Given the description of an element on the screen output the (x, y) to click on. 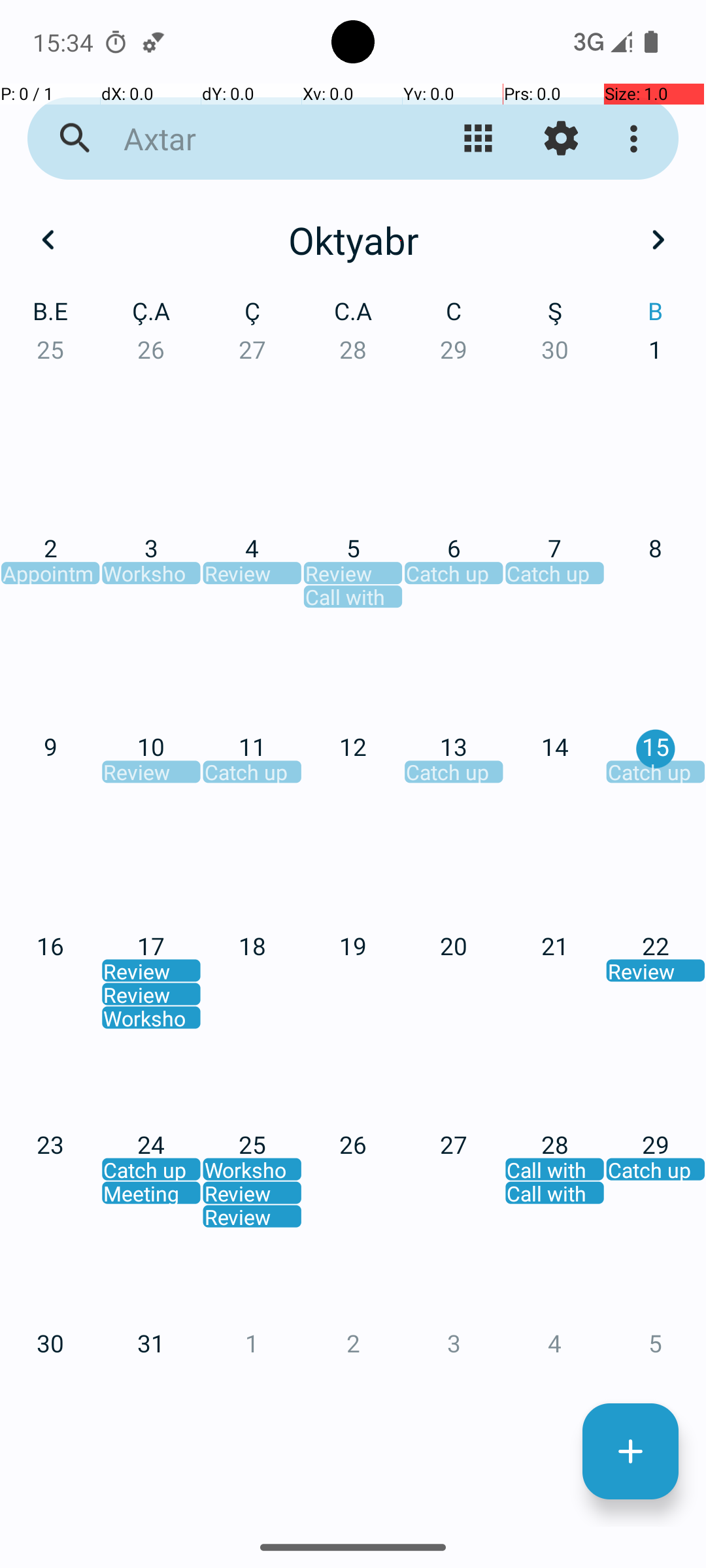
Axtar Element type: android.widget.EditText (252, 138)
Görünüşü dəyiş Element type: android.widget.Button (477, 138)
Parametrlər Element type: android.widget.Button (560, 138)
Digər seçimlər Element type: android.widget.ImageView (636, 138)
Yeni Hadisə Element type: android.widget.ImageButton (630, 1451)
Oktyabr Element type: android.widget.TextView (352, 239)
